Given the description of an element on the screen output the (x, y) to click on. 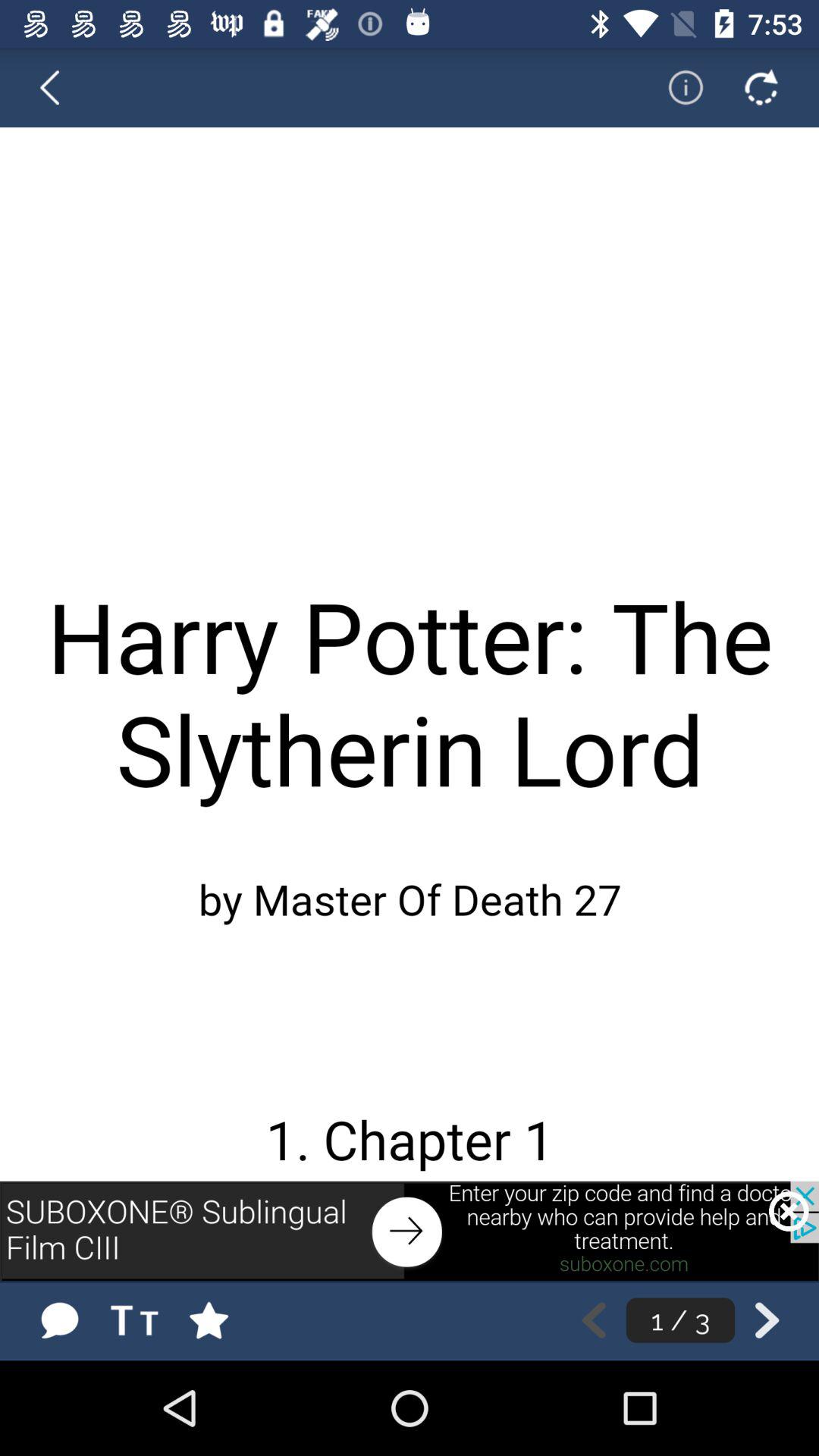
medical advertisement pop-up (409, 1230)
